Given the description of an element on the screen output the (x, y) to click on. 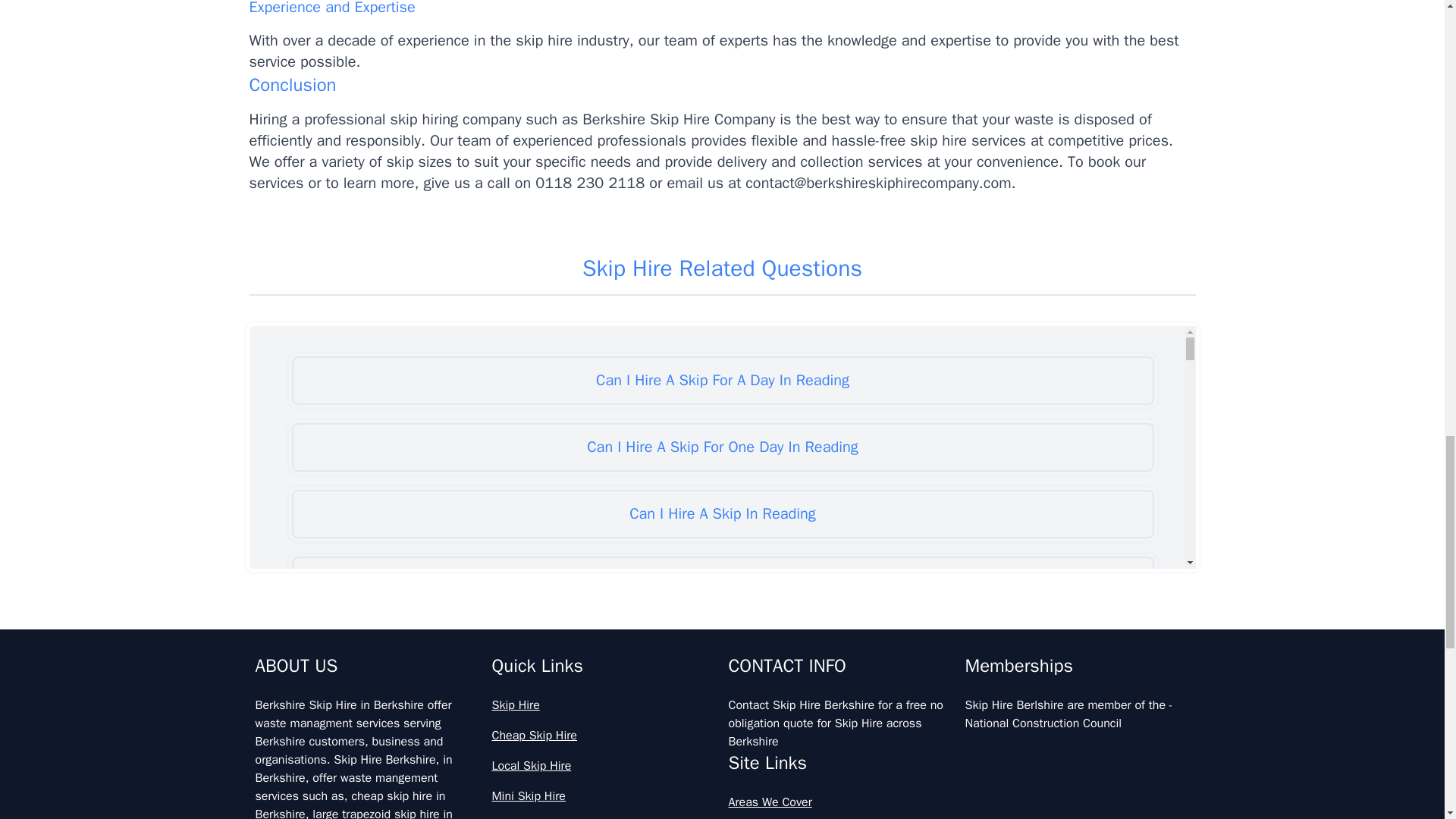
Can You Hire A Skip For An Hour In Reading (722, 647)
Can You Hire A Skip For One Day In Reading (722, 780)
Can I Hire A Skip For One Day In Reading (722, 447)
Can You Hire A Skip For Garden Waste In Reading (722, 714)
Can You Hire A Skip For A Day In Reading (722, 580)
Can I Hire A Skip For A Day In Reading (722, 380)
Can I Hire A Skip In Reading (722, 513)
